Given the description of an element on the screen output the (x, y) to click on. 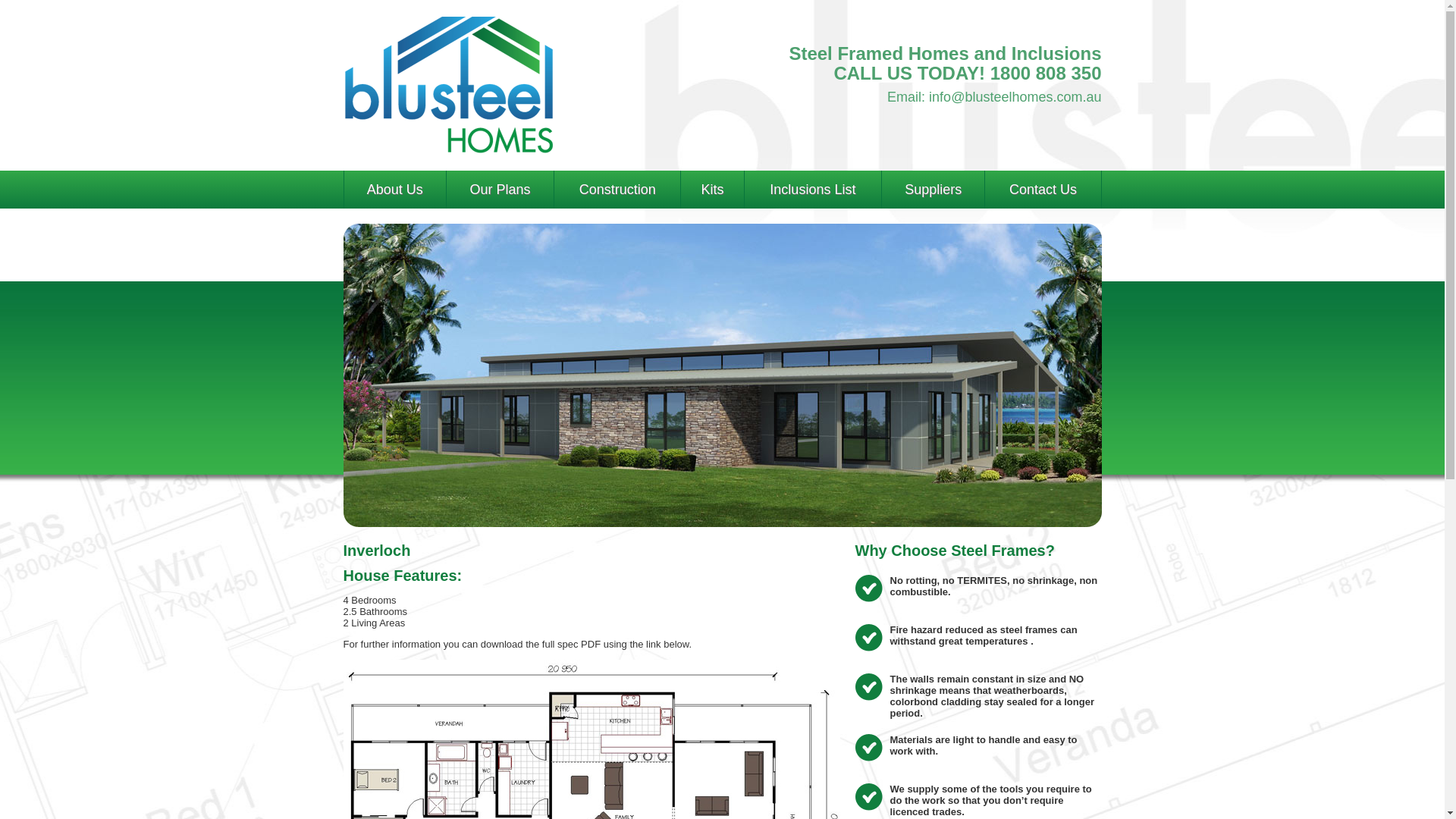
Kits Element type: text (711, 189)
Construction Element type: text (617, 189)
Our Plans Element type: text (499, 189)
About Us Element type: text (394, 189)
Suppliers Element type: text (932, 189)
Inclusions List Element type: text (812, 189)
Email: info@blusteelhomes.com.au Element type: text (994, 96)
Contact Us Element type: text (1042, 189)
